Given the description of an element on the screen output the (x, y) to click on. 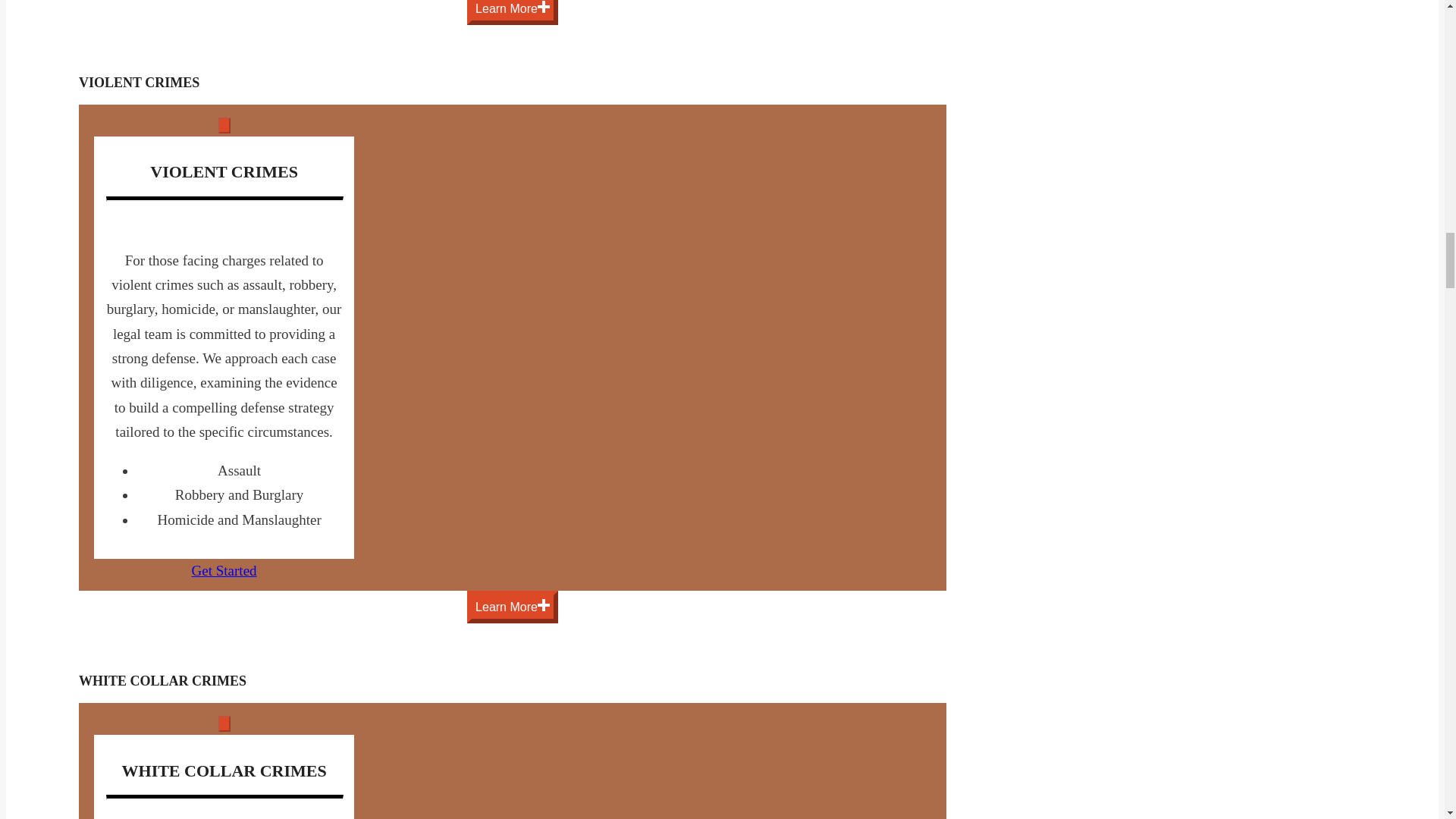
Learn More (512, 12)
